Given the description of an element on the screen output the (x, y) to click on. 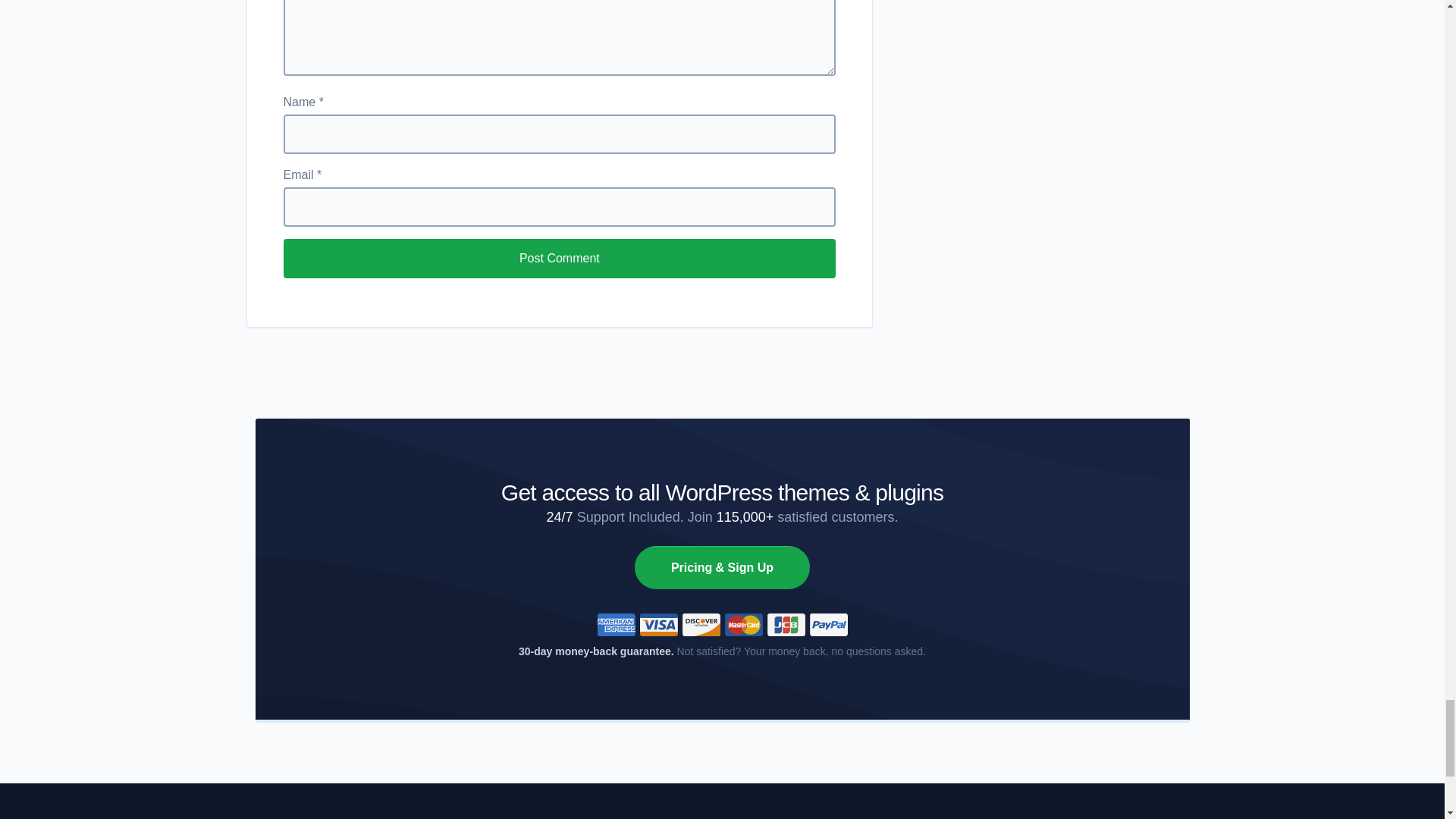
Post Comment (559, 258)
